Given the description of an element on the screen output the (x, y) to click on. 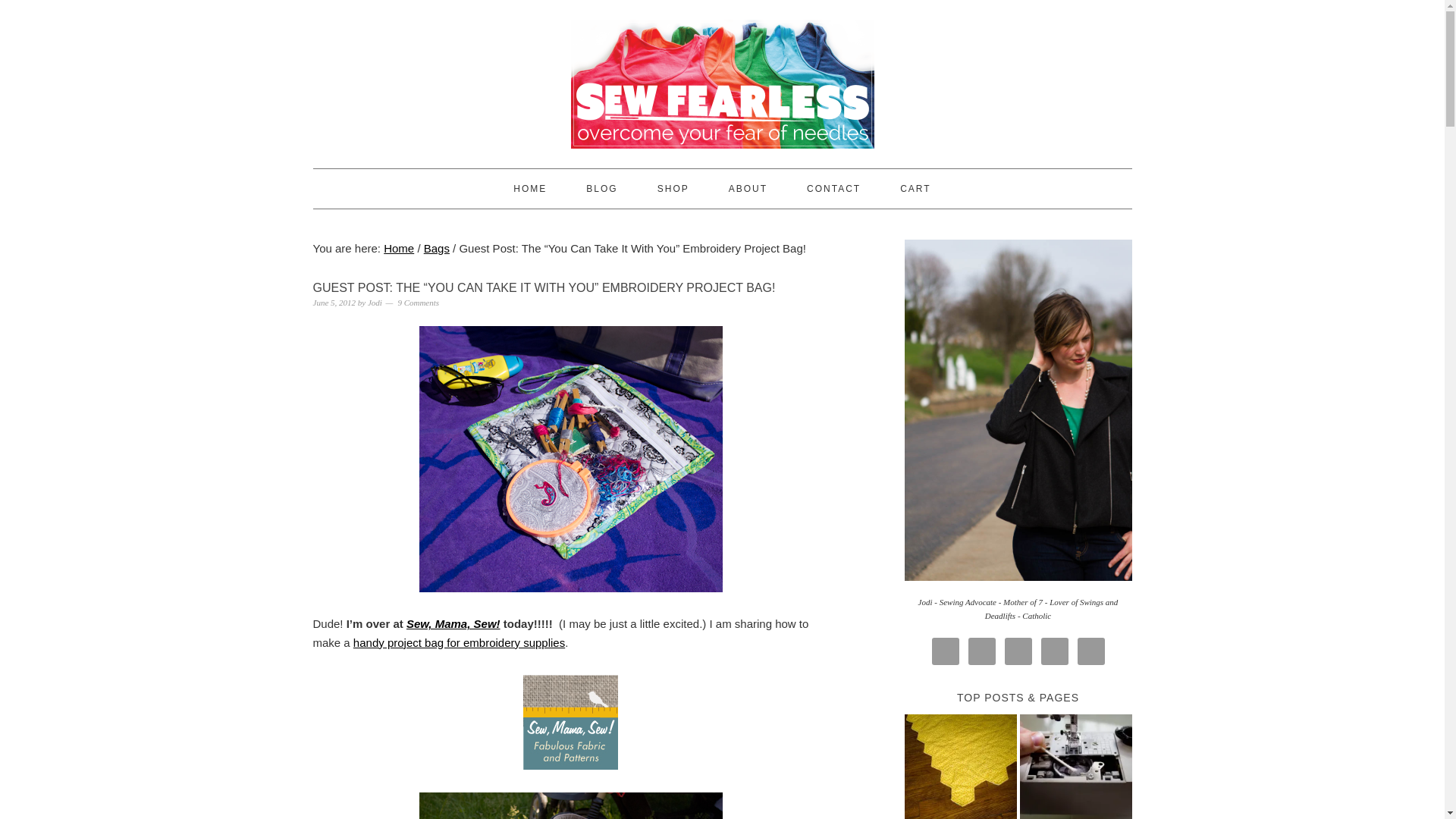
outside-bydiaperbag (570, 805)
How To Finish A Shaped Quilt Edge Without Binding (960, 766)
HOME (530, 188)
outside-zipper (570, 458)
SEW FEARLESS (722, 77)
Is the tension on my machine broken? (1075, 766)
Bags (436, 247)
Home (398, 247)
ABOUT (748, 188)
handy project bag for embroidery supplies (458, 642)
Jodi (374, 302)
9 Comments (418, 302)
BLOG (601, 188)
Sew, Mama, Sew! (453, 623)
